Given the description of an element on the screen output the (x, y) to click on. 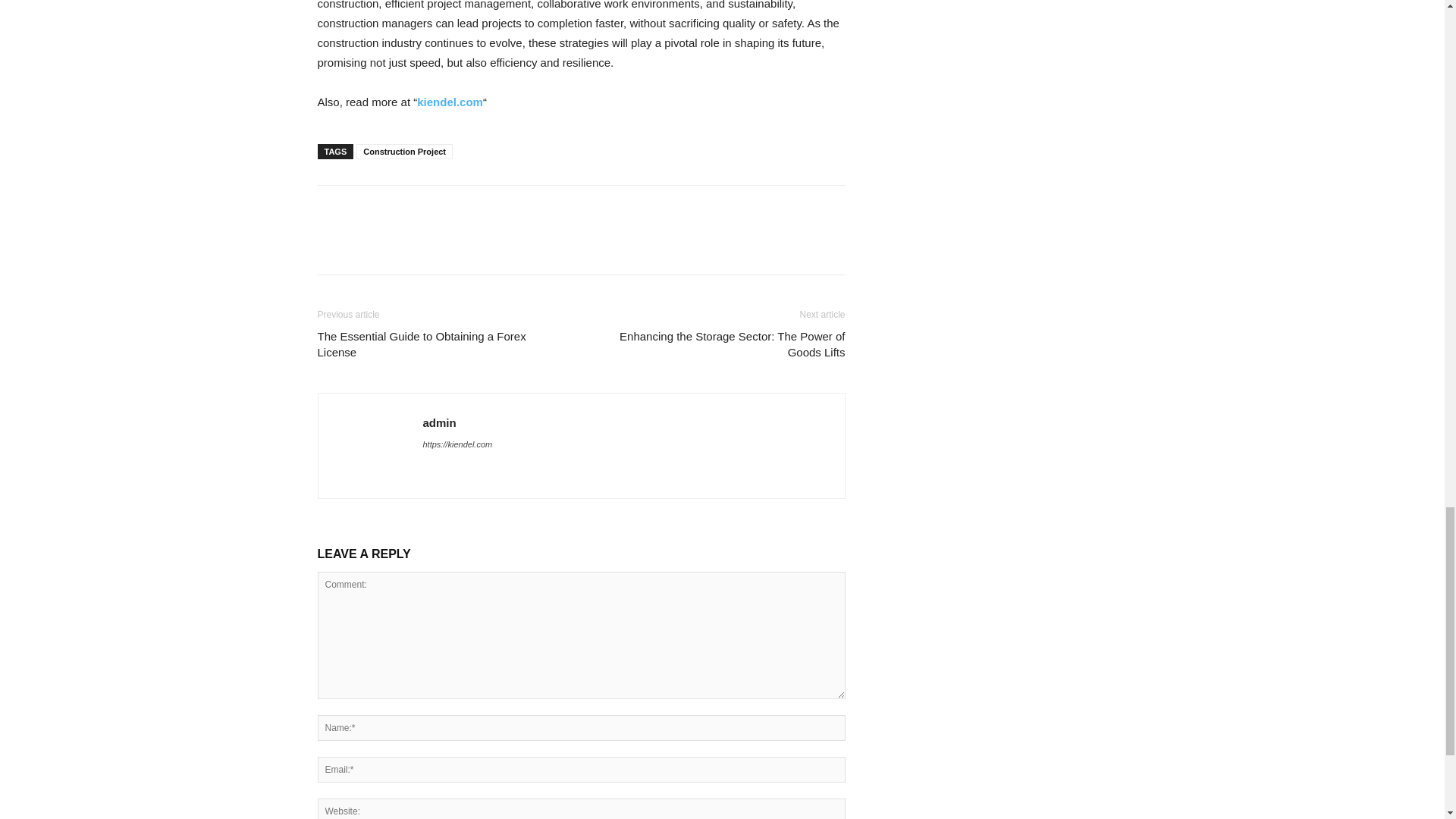
Construction Project (404, 151)
The Essential Guide to Obtaining a Forex License (439, 344)
bottomFacebookLike (430, 209)
kiendel.com (449, 101)
admin (440, 422)
Enhancing the Storage Sector: The Power of Goods Lifts (721, 344)
